Given the description of an element on the screen output the (x, y) to click on. 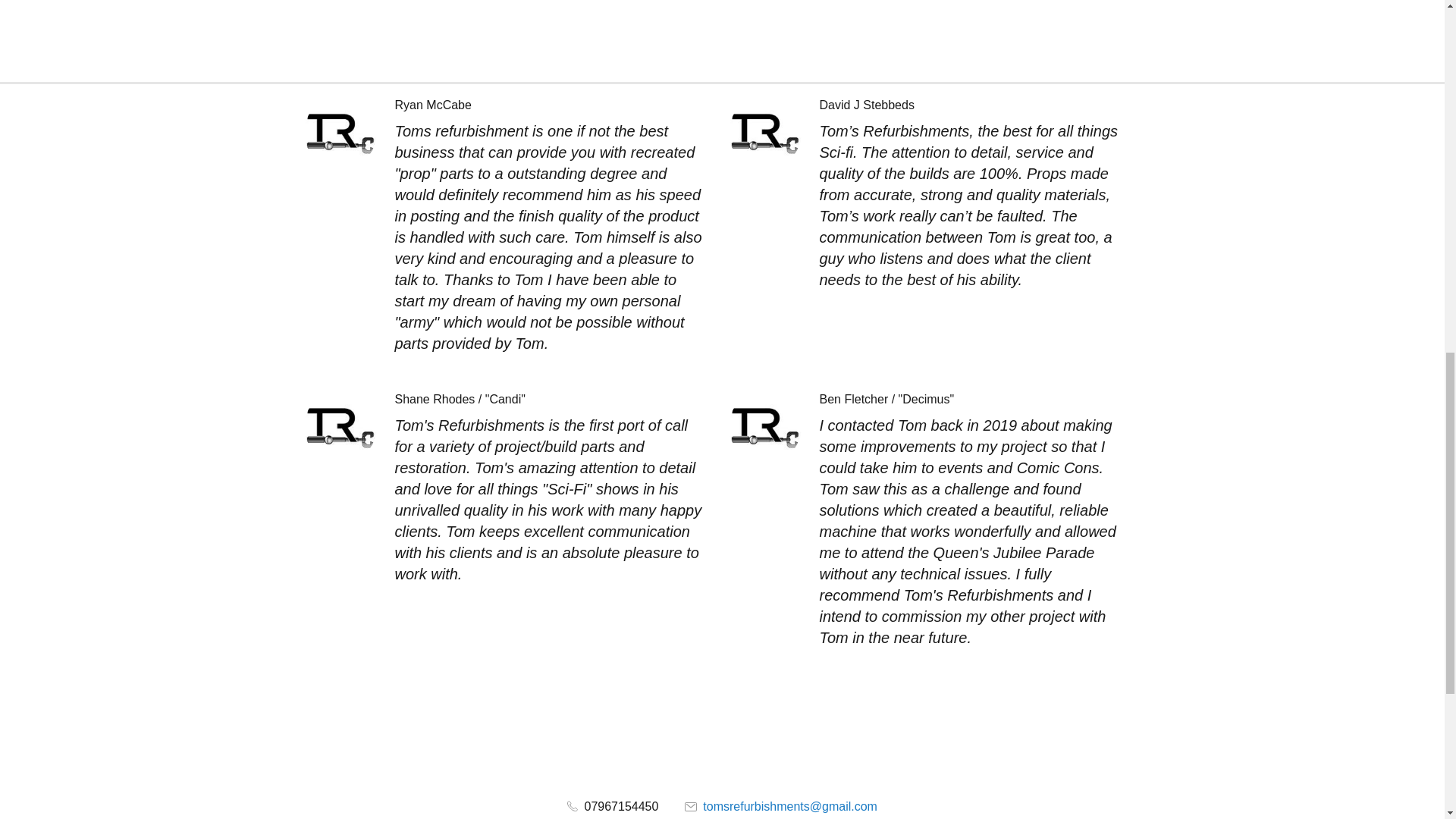
07967154450 (612, 806)
